Given the description of an element on the screen output the (x, y) to click on. 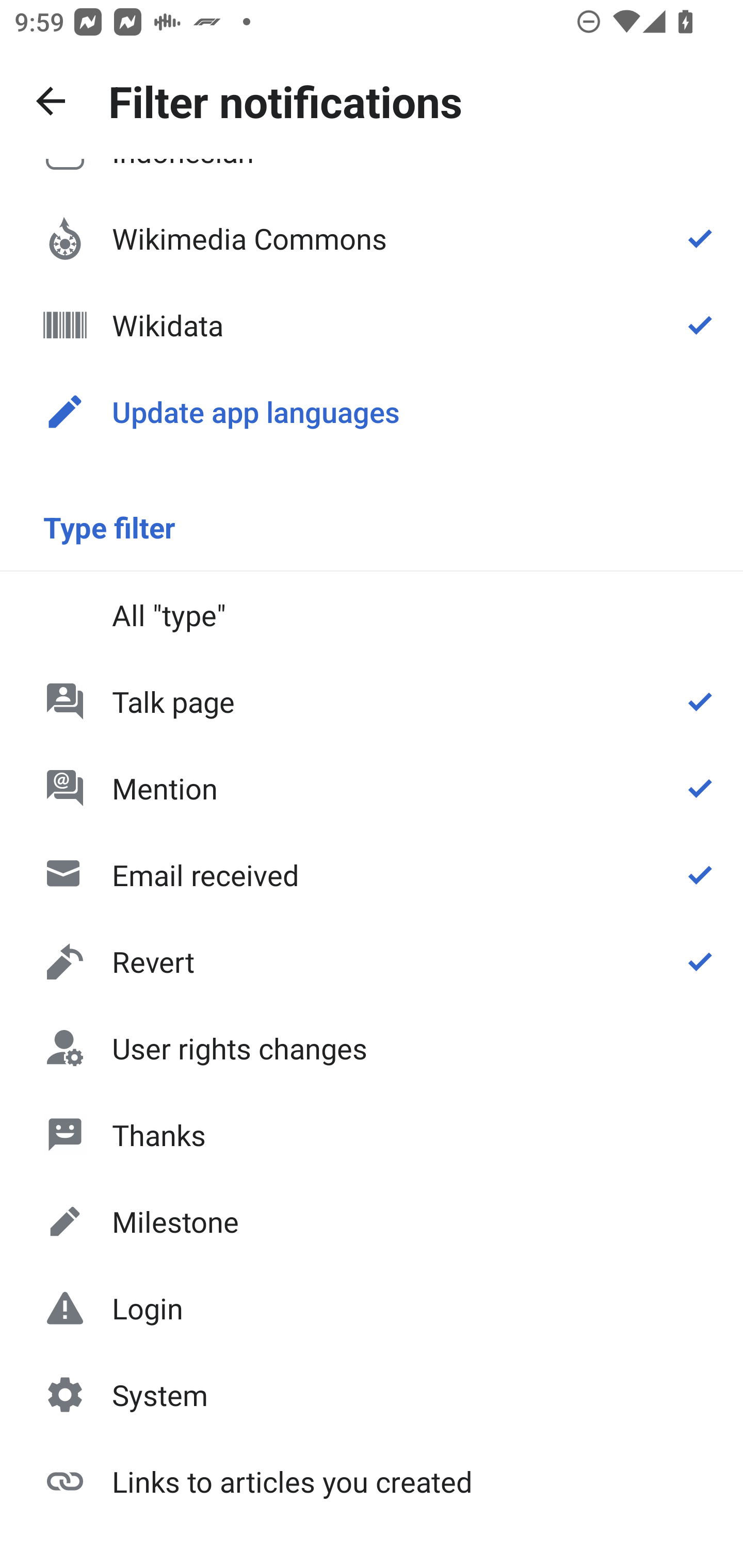
Navigate up (50, 101)
Wikimedia Commons (371, 238)
Wikidata (371, 325)
Update app languages (371, 411)
All "type" (371, 614)
Talk page (371, 701)
Mention (371, 787)
Email received (371, 874)
Revert (371, 961)
User rights changes (371, 1048)
Thanks (371, 1134)
Milestone (371, 1221)
Login (371, 1308)
System (371, 1394)
Links to articles you created (371, 1480)
